Given the description of an element on the screen output the (x, y) to click on. 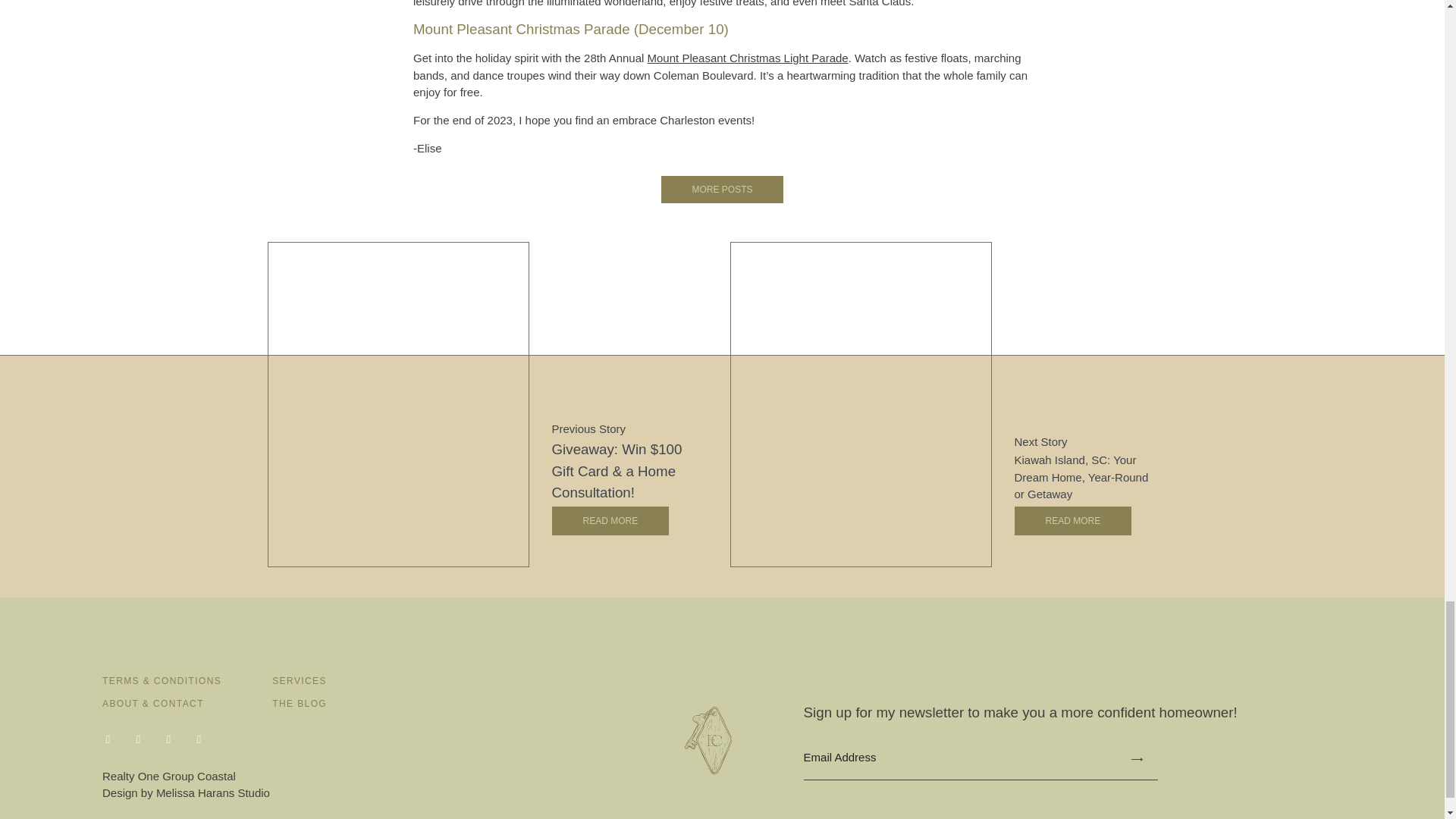
Mount Pleasant Christmas Light Parade (747, 57)
MORE POSTS (722, 189)
READ MORE (610, 520)
READ MORE (1073, 520)
THE BLOG (299, 703)
SERVICES (299, 680)
